Given the description of an element on the screen output the (x, y) to click on. 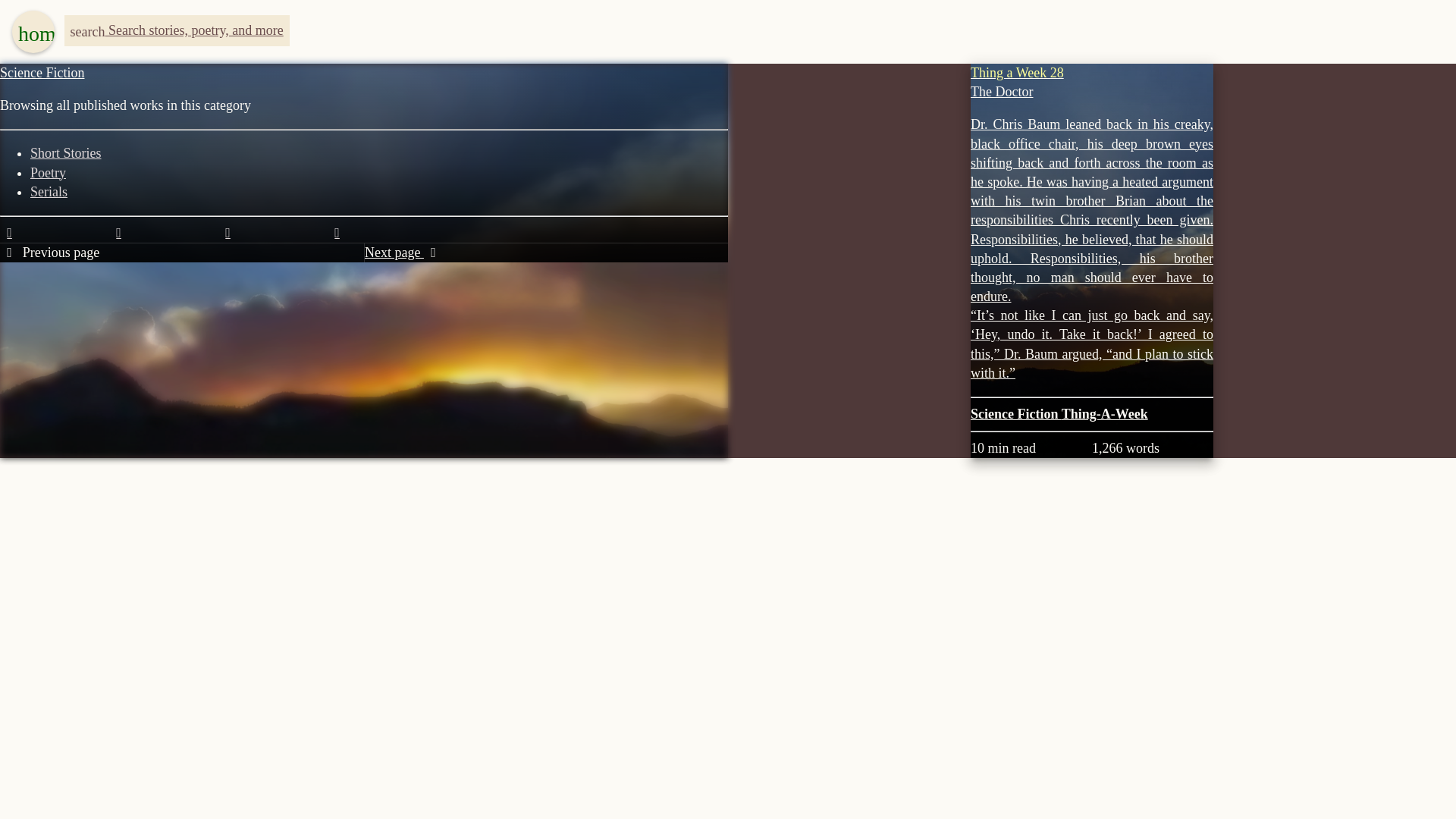
Next page (403, 252)
Short Stories (65, 152)
Science Fiction (42, 72)
Next page (403, 252)
Notebook.ai (9, 232)
Linkedin (336, 232)
Science Fiction (1016, 413)
Poetry (47, 172)
Previous page (49, 252)
home (33, 31)
